Given the description of an element on the screen output the (x, y) to click on. 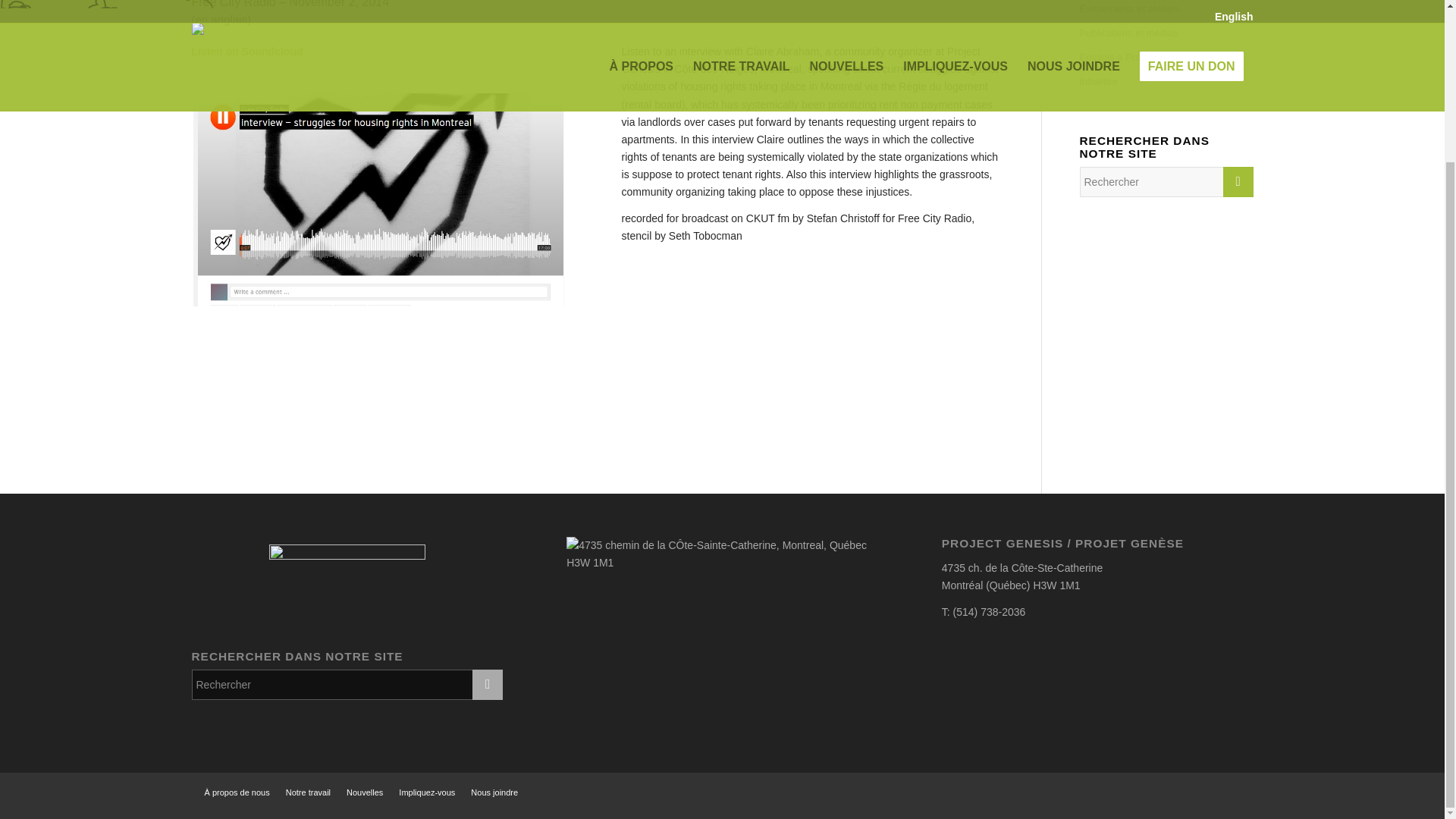
Infolettre (1166, 81)
Listen on Soundcloud (246, 51)
Free City Radio - Struggles for housing rights in Montreal (246, 51)
